Given the description of an element on the screen output the (x, y) to click on. 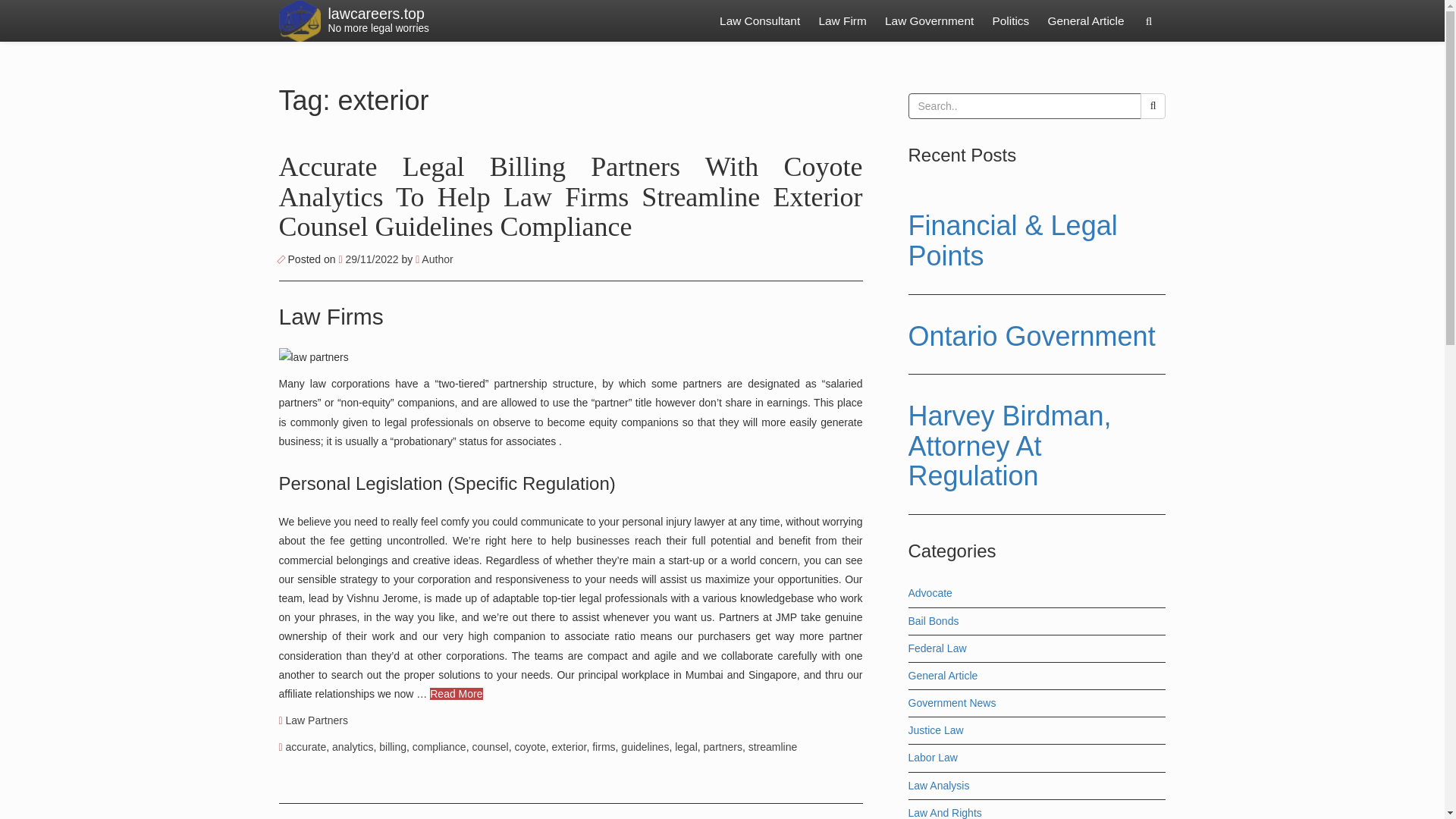
counsel (489, 746)
Law Firm (841, 20)
Law Government (929, 20)
Politics (1010, 20)
billing (392, 746)
Law Partners (316, 720)
Law Consultant (377, 20)
accurate (759, 20)
21:27 (305, 746)
analytics (369, 259)
Author (351, 746)
General Article (433, 259)
compliance (1086, 20)
